Given the description of an element on the screen output the (x, y) to click on. 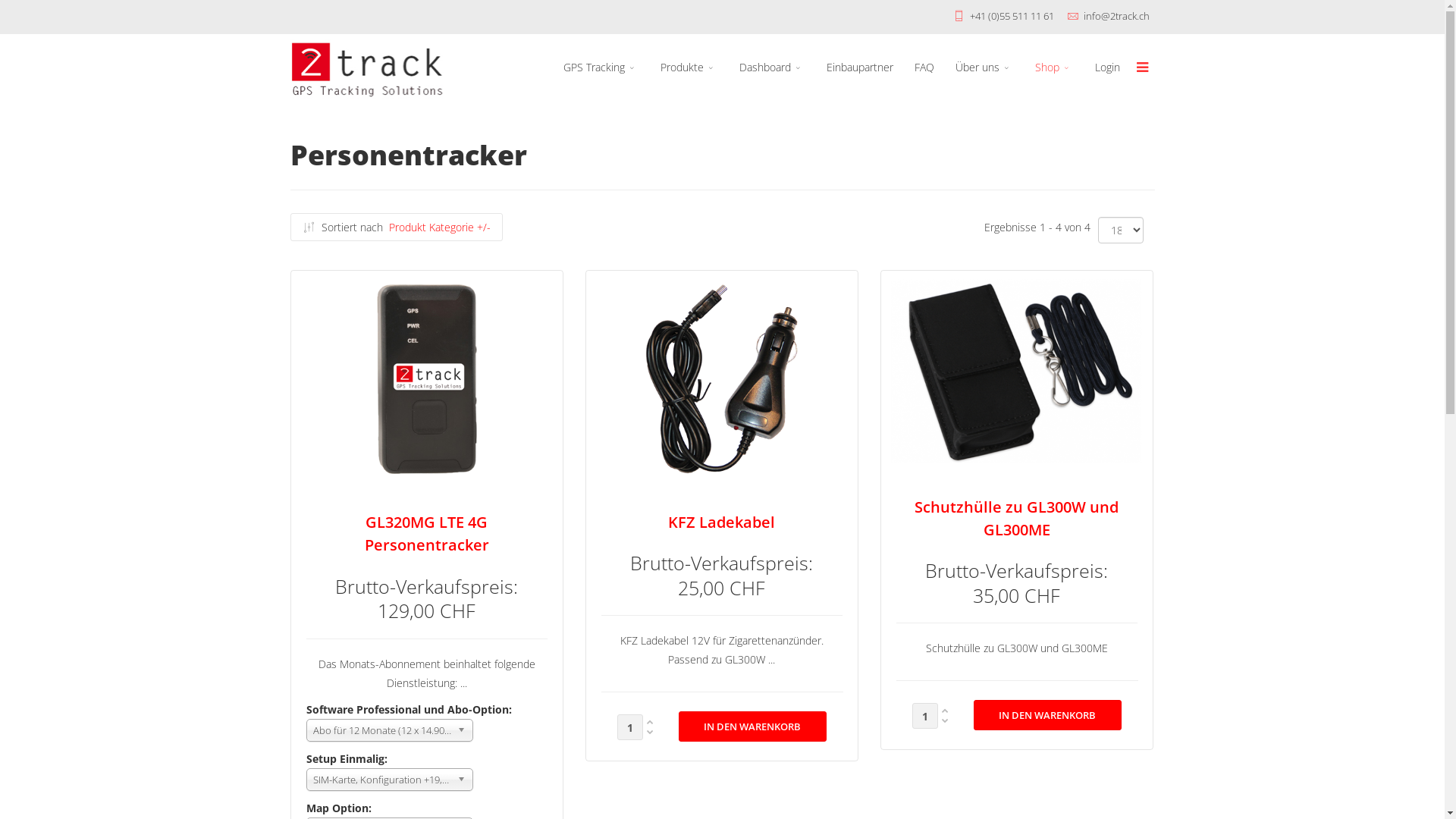
+41 (0)55 511 11 61 Element type: text (1011, 15)
SIM-Karte, Konfiguration +19,90 CHF Element type: text (389, 779)
FAQ Element type: text (923, 67)
Shop Element type: text (1053, 67)
In den Warenkorb Element type: text (752, 726)
info@2track.ch Element type: text (1115, 15)
Produkt Kategorie +/- Element type: text (438, 226)
KFZ Ladekabel Element type: text (721, 521)
In den Warenkorb Element type: text (1047, 714)
In den Warenkorb Element type: hover (1047, 714)
Einbaupartner Element type: text (859, 67)
Dashboard Element type: text (771, 67)
In den Warenkorb Element type: hover (752, 726)
GPS Tracking Element type: text (600, 67)
Produkte Element type: text (688, 67)
Login Element type: text (1107, 67)
GL320MG LTE 4G Personentracker Element type: text (426, 533)
